Given the description of an element on the screen output the (x, y) to click on. 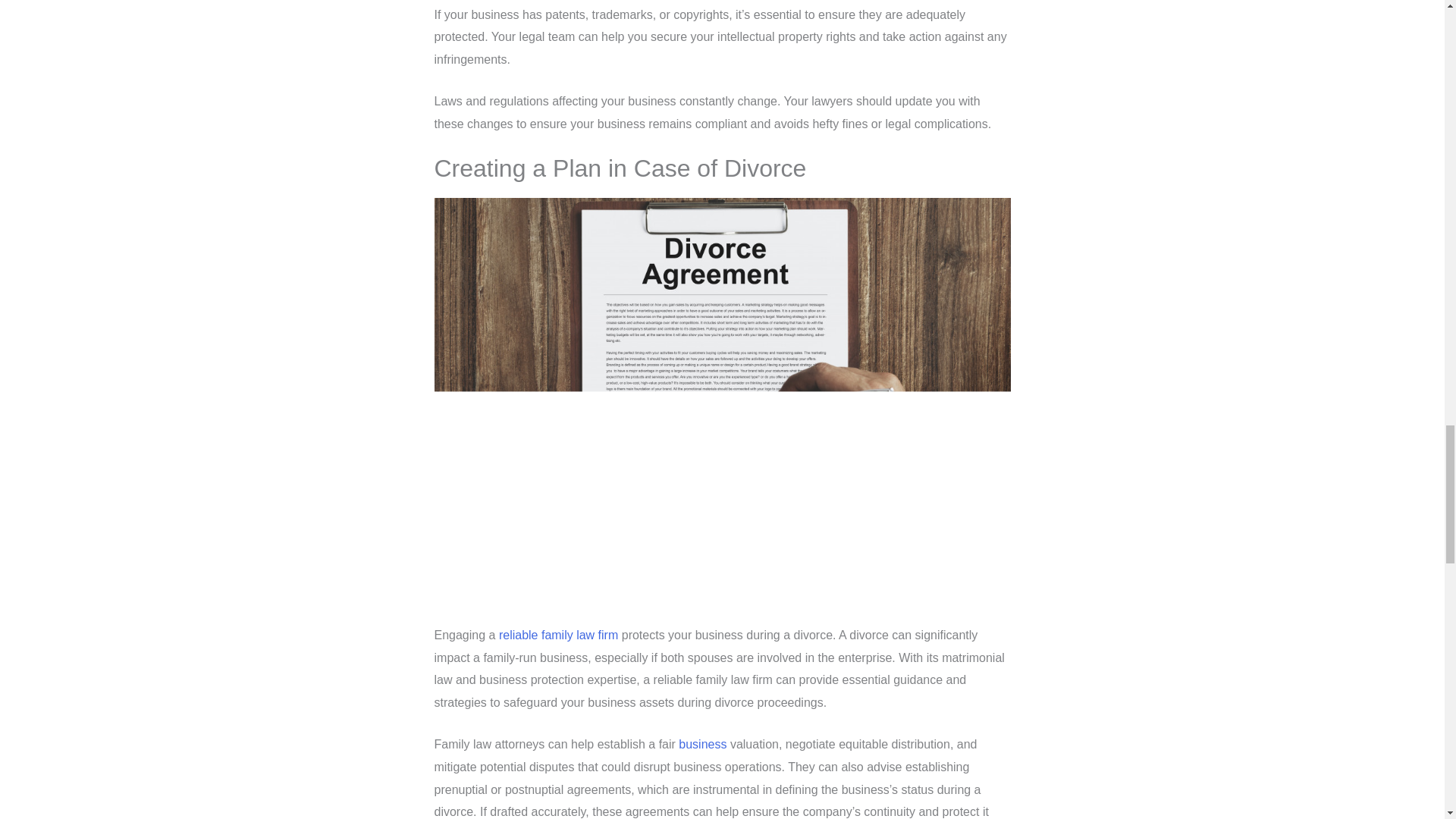
business (702, 744)
reliable family law firm (558, 634)
